Given the description of an element on the screen output the (x, y) to click on. 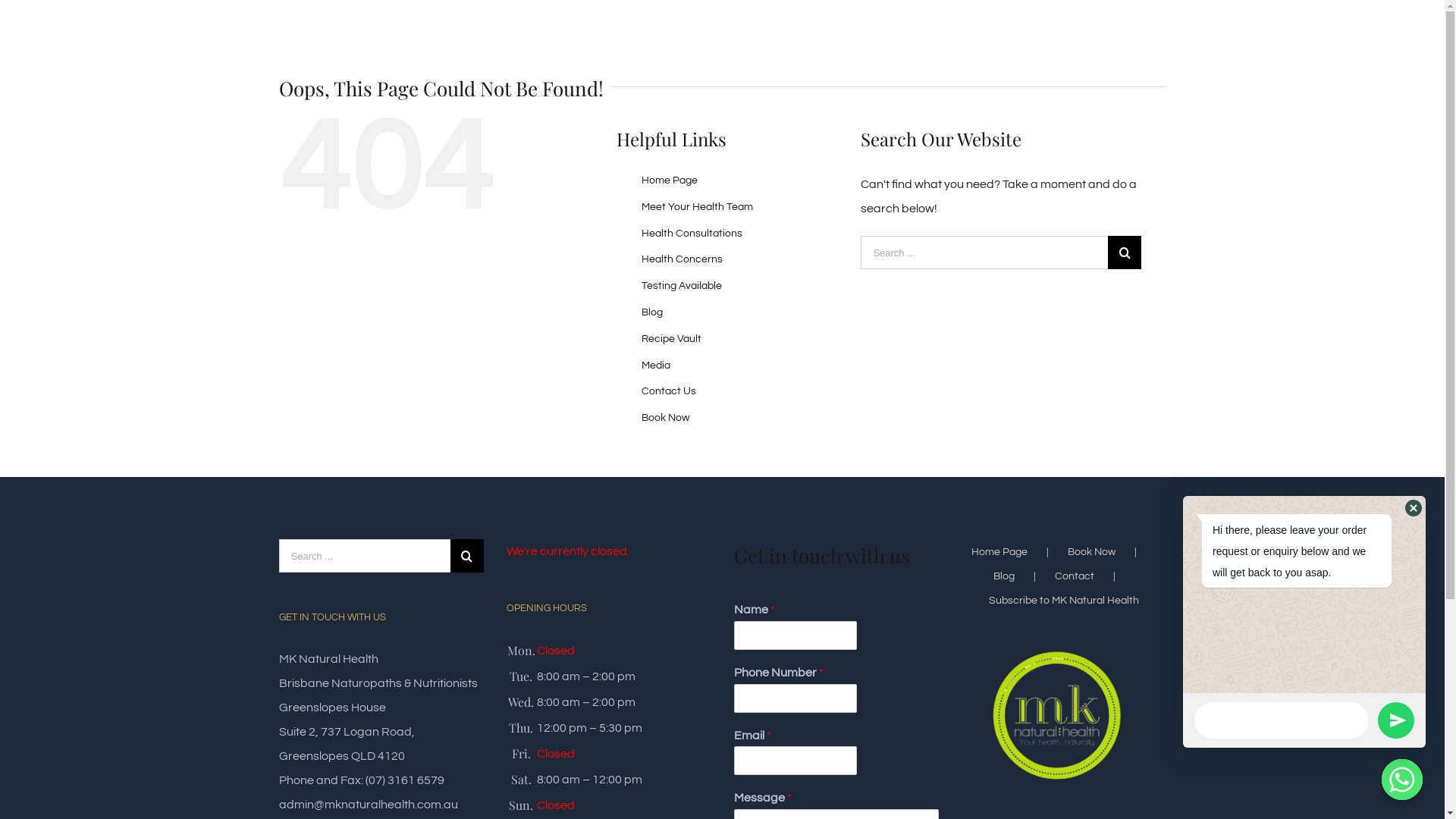
Book Now Element type: text (665, 417)
Recipe Vault Element type: text (671, 338)
Book Now Element type: text (1111, 551)
Media Element type: text (655, 365)
Testing Available Element type: text (681, 285)
Health Concerns Element type: text (681, 259)
Home Page Element type: text (1019, 551)
Subscribe to MK Natural Health Element type: text (1063, 600)
Blog Element type: text (1023, 575)
Meet Your Health Team Element type: text (697, 206)
Contact Us Element type: text (668, 390)
Home Page Element type: text (669, 180)
Blog Element type: text (651, 312)
Health Consultations Element type: text (691, 233)
Contact Element type: text (1093, 575)
